Given the description of an element on the screen output the (x, y) to click on. 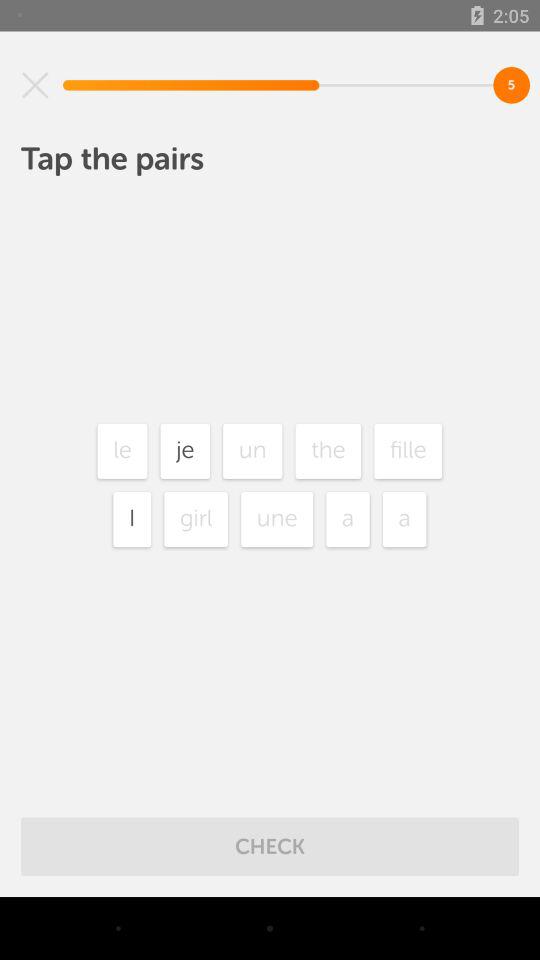
turn on icon next to girl icon (132, 519)
